Given the description of an element on the screen output the (x, y) to click on. 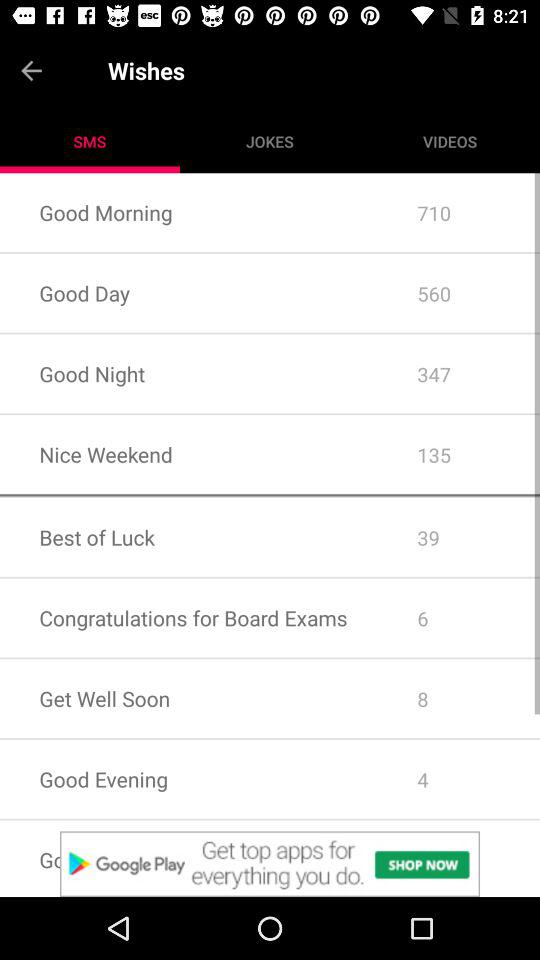
turn off the icon next to the 560 app (188, 373)
